Given the description of an element on the screen output the (x, y) to click on. 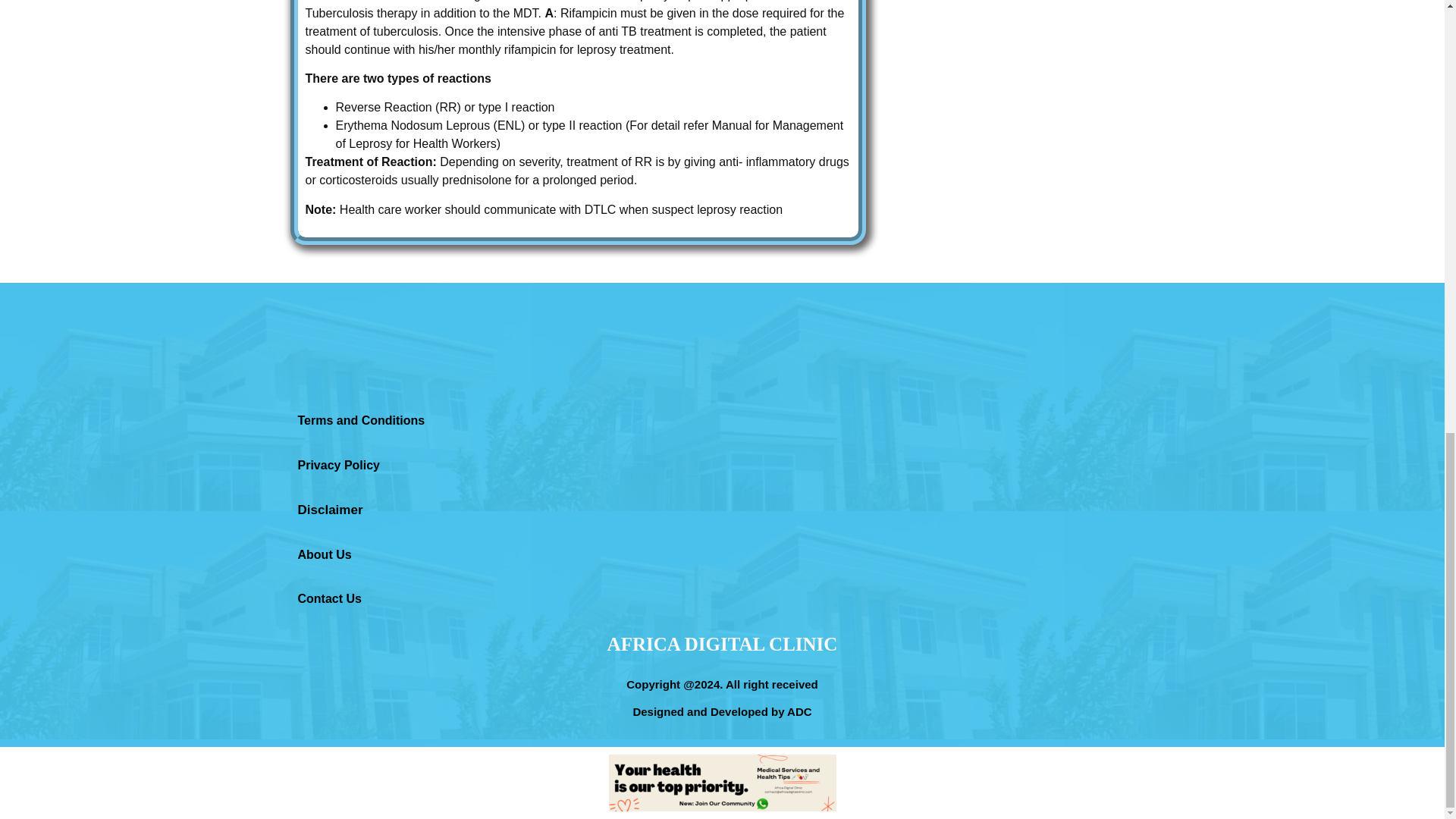
Terms and Conditions (361, 420)
Disclaimer (329, 509)
AFRICA DIGITAL CLINIC (722, 643)
Privacy Policy (338, 464)
About Us (323, 554)
Contact Us (329, 598)
